Given the description of an element on the screen output the (x, y) to click on. 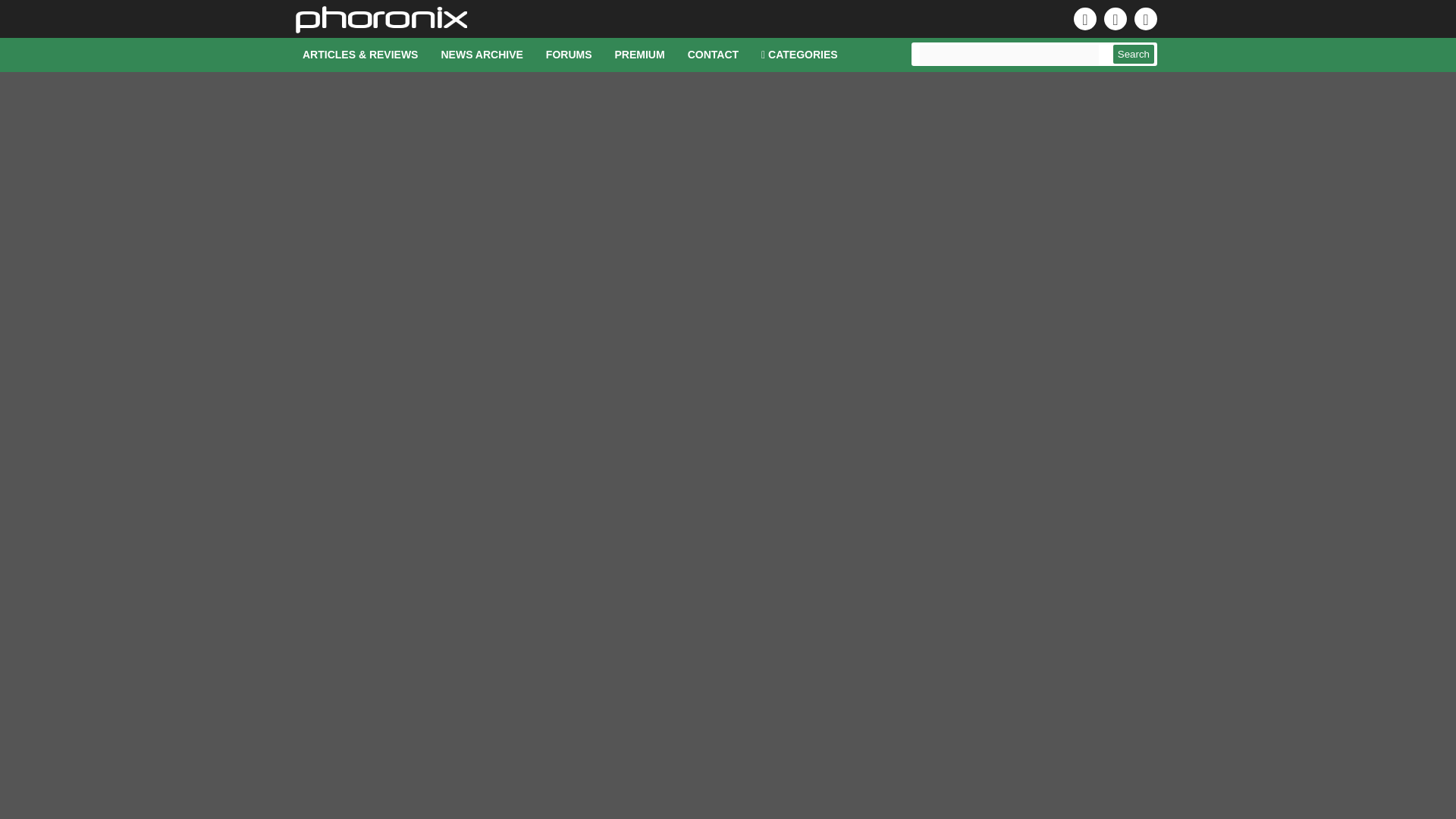
Search (1133, 54)
Search (1133, 54)
NEWS ARCHIVE (481, 54)
CONTACT (713, 54)
PREMIUM (640, 54)
FORUMS (569, 54)
